Given the description of an element on the screen output the (x, y) to click on. 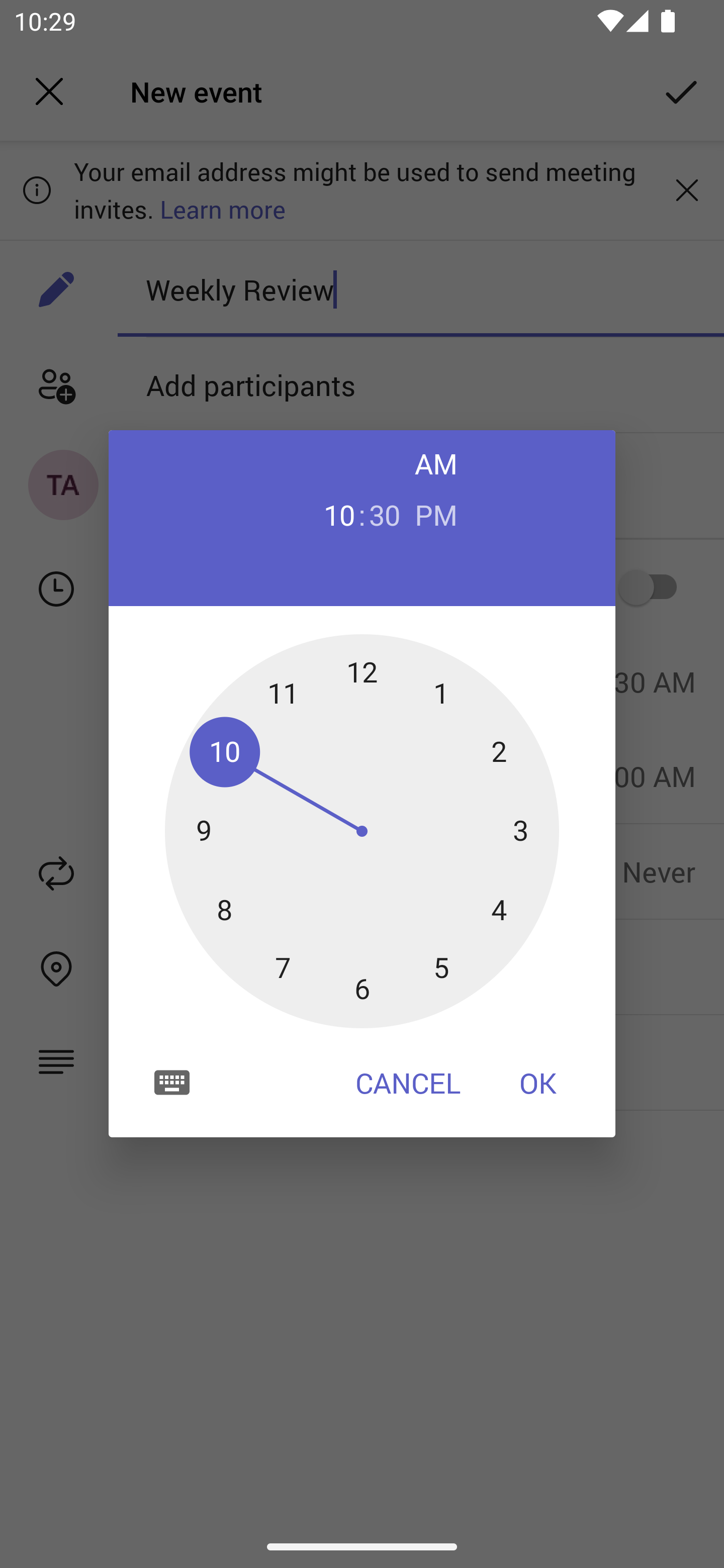
AM (435, 463)
PM (435, 514)
10 (338, 514)
30 (384, 514)
CANCEL (407, 1082)
OK (537, 1082)
Switch to text input mode for the time input. (171, 1081)
